Given the description of an element on the screen output the (x, y) to click on. 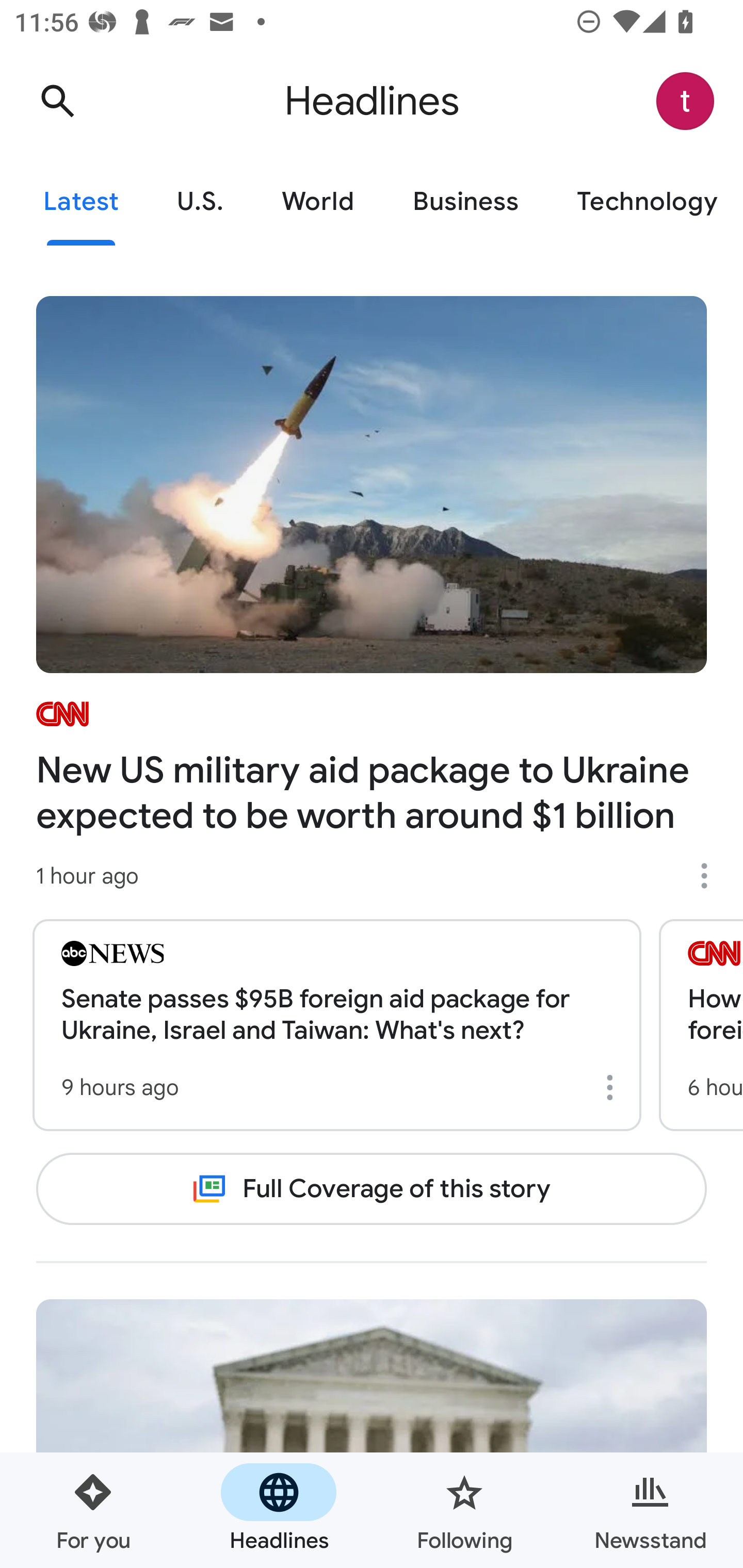
Search (57, 100)
U.S. (199, 202)
World (317, 202)
Business (465, 202)
Technology (645, 202)
More options (711, 875)
More options (613, 1086)
Full Coverage of this story (371, 1188)
For you (92, 1509)
Headlines (278, 1509)
Following (464, 1509)
Newsstand (650, 1509)
